Given the description of an element on the screen output the (x, y) to click on. 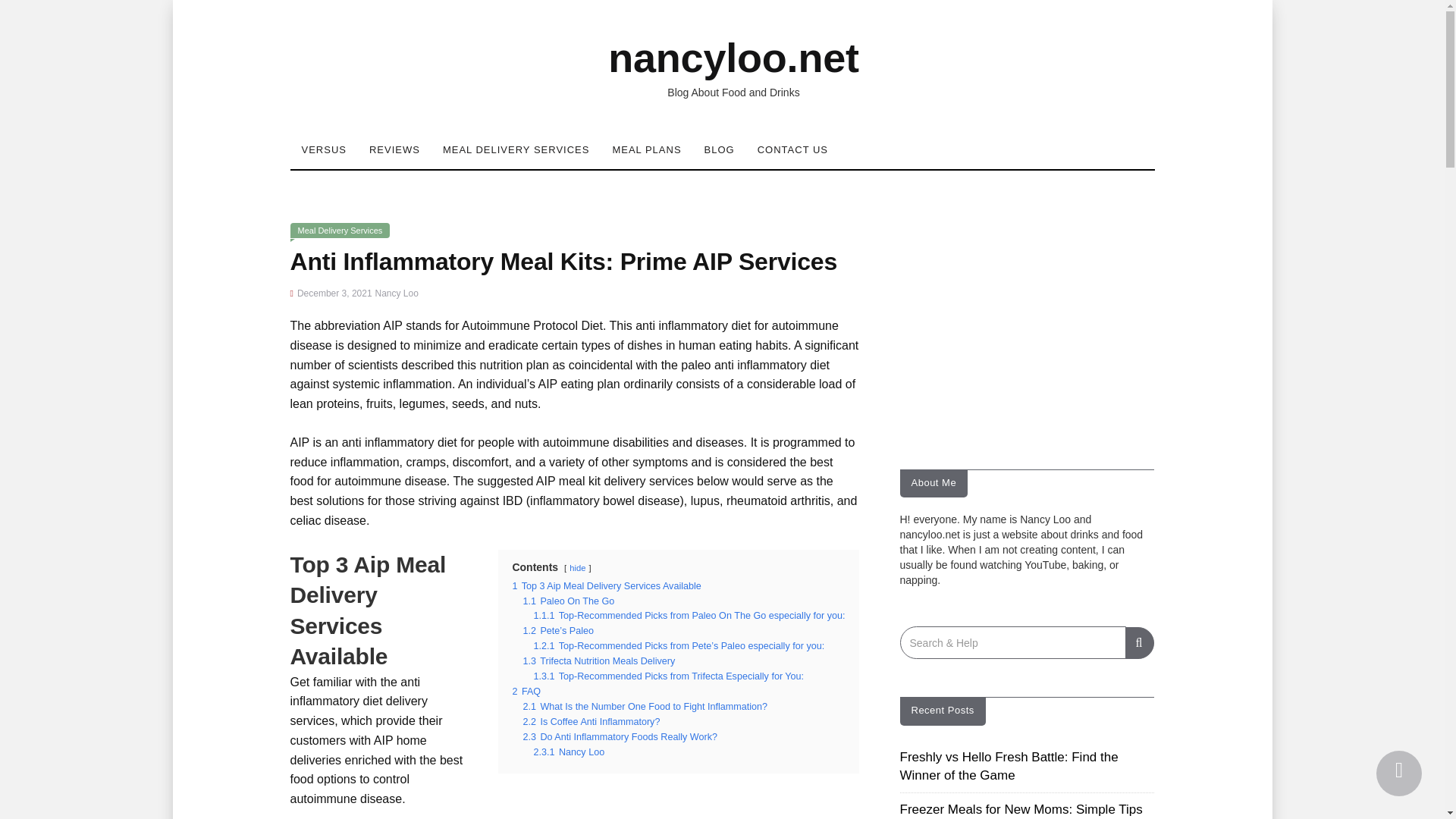
Meal Plans (646, 149)
Search for: (1012, 642)
Reviews (394, 149)
hide (577, 567)
Blog (719, 149)
CONTACT US (792, 149)
Freshly vs Hello Fresh Battle: Find the Winner of the Game (1008, 766)
2 FAQ (526, 691)
